Given the description of an element on the screen output the (x, y) to click on. 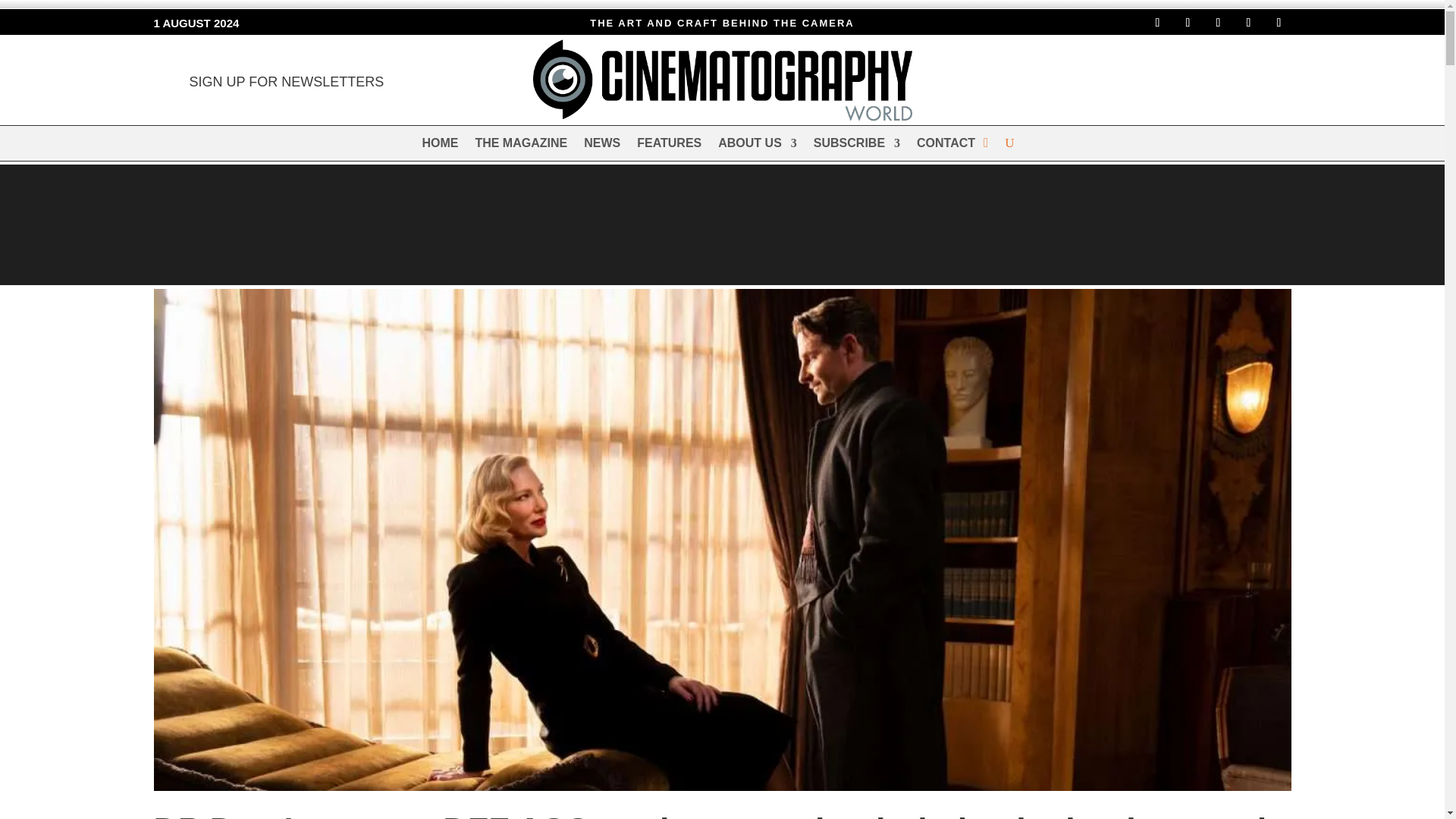
Follow on Instagram (1186, 22)
FEATURES (669, 146)
Follow on Youtube (1278, 22)
HOME (440, 146)
THE MAGAZINE (520, 146)
Follow on Facebook (1156, 22)
CONTACT (946, 146)
Follow on X (1217, 22)
CW-masthead (721, 80)
Follow on LinkedIn (1248, 22)
NEWS (601, 146)
ABOUT US (756, 146)
SUBSCRIBE (856, 146)
